Given the description of an element on the screen output the (x, y) to click on. 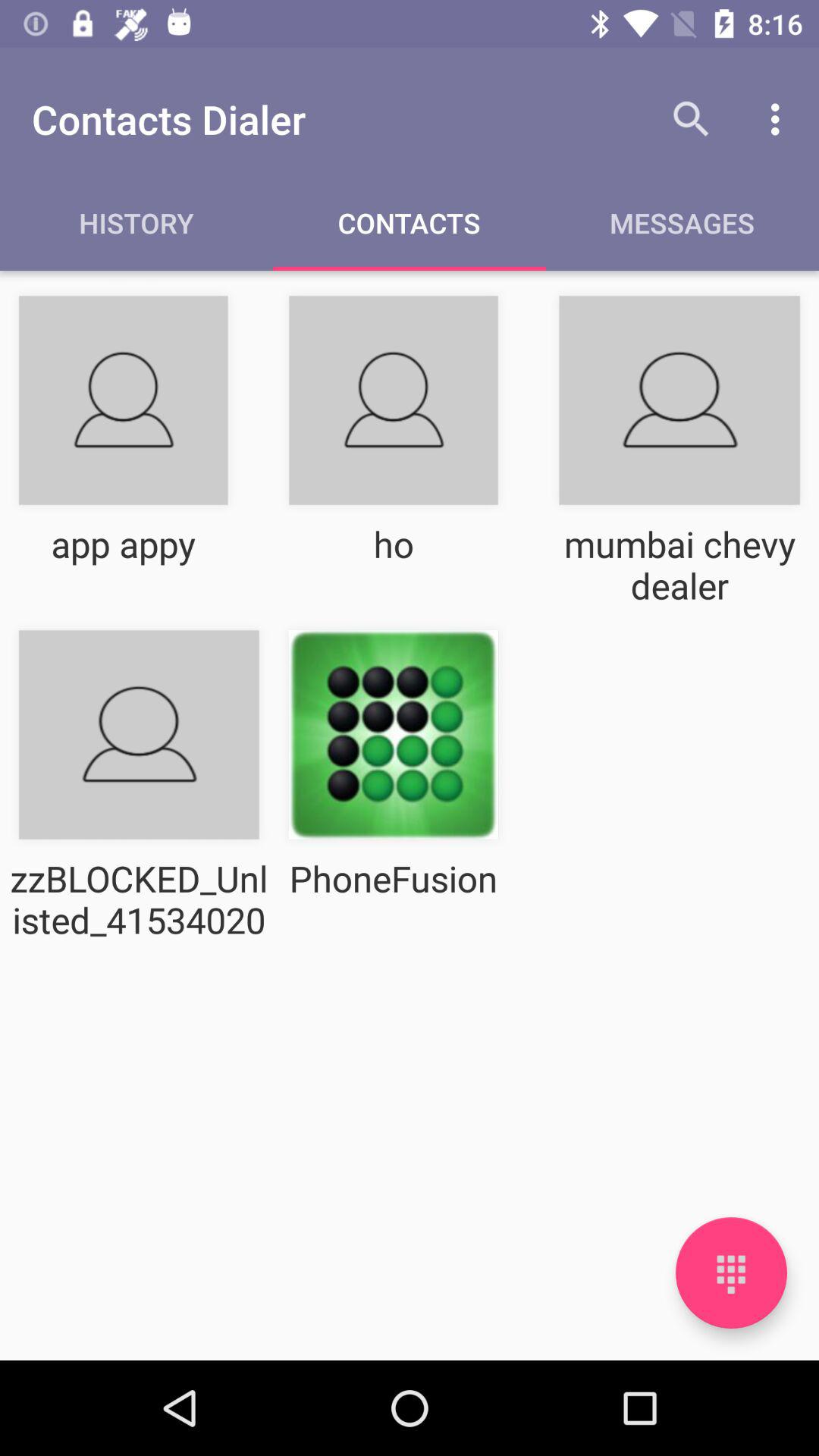
select the item next to contacts dialer (691, 119)
